Given the description of an element on the screen output the (x, y) to click on. 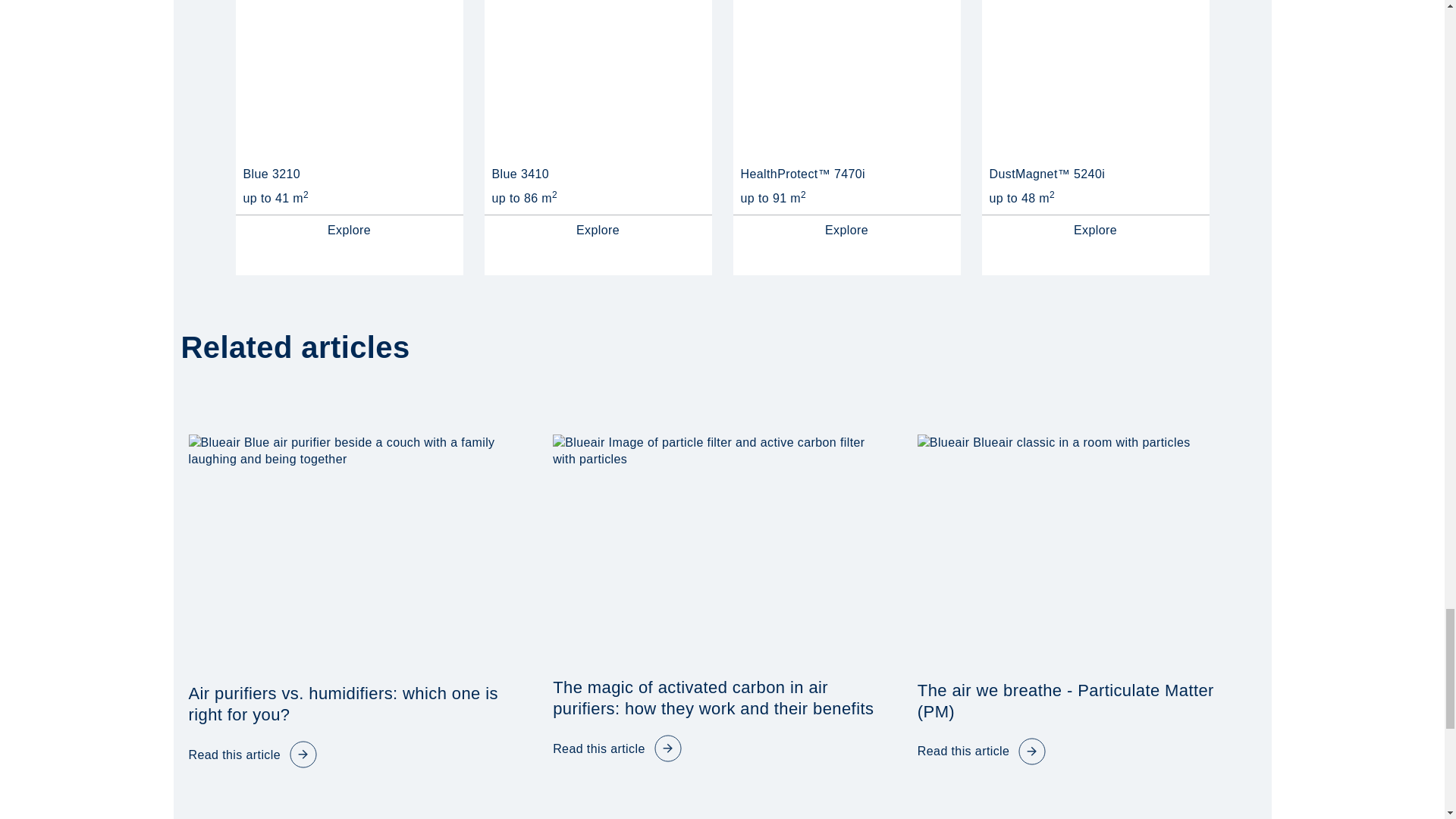
Blue 3210 (349, 79)
Go to Product: Blue 3210 (348, 230)
Blue 3210 (348, 79)
Blue 3410 (596, 79)
Add Blue 3410 to cart (520, 173)
Add Blue 3210 to cart (271, 173)
Go to Product: Blue 3410 (597, 230)
Blue 3410 (597, 79)
